Given the description of an element on the screen output the (x, y) to click on. 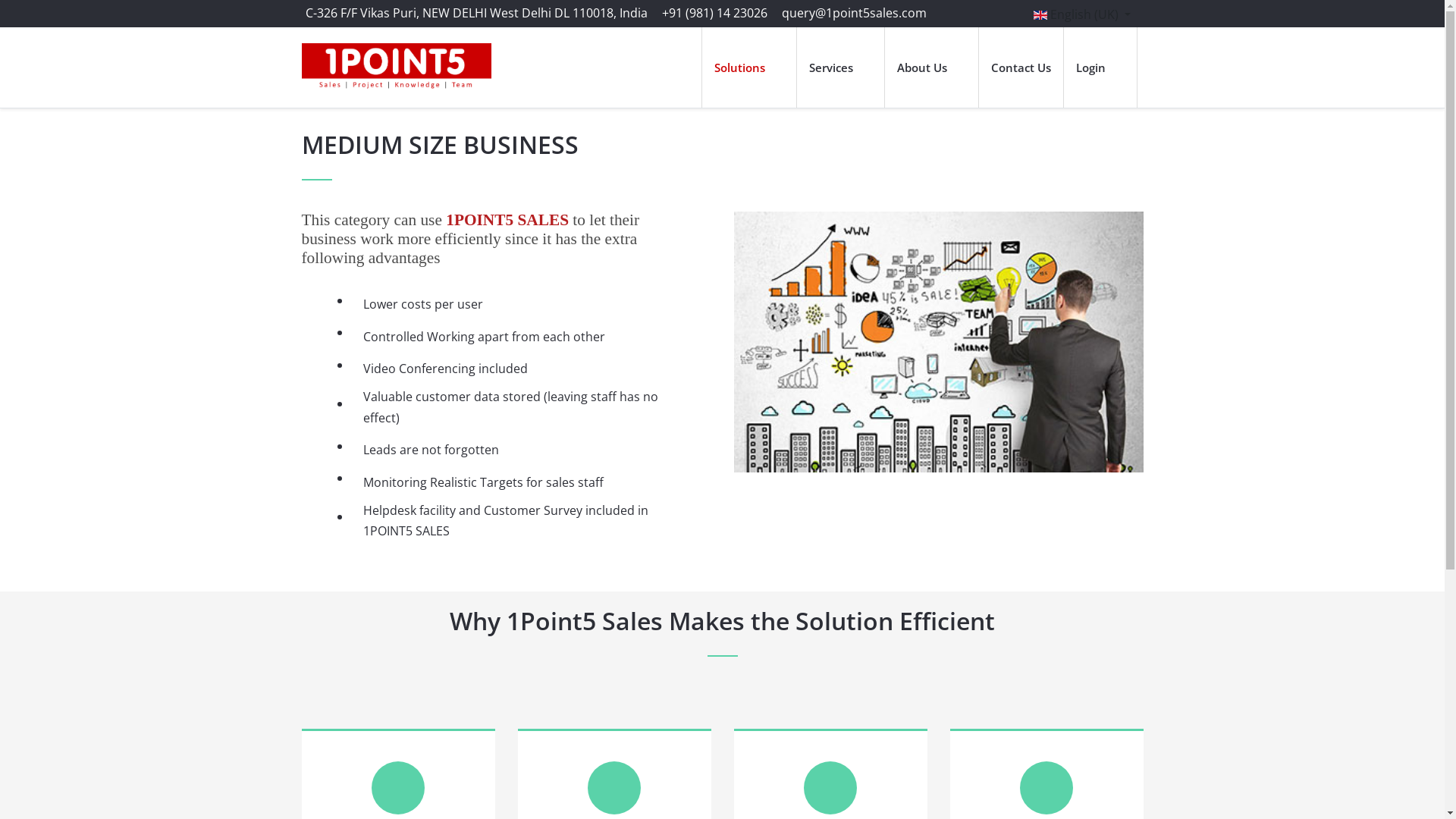
Services Element type: text (839, 67)
Login Element type: text (1099, 67)
Leads are not forgotten Element type: text (517, 449)
home Element type: hover (688, 33)
About Us Element type: text (930, 67)
query@1point5sales.com Element type: text (853, 12)
Video Conferencing included Element type: text (517, 368)
Controlled Working apart from each other Element type: text (517, 336)
  English (UK) Element type: text (1080, 14)
Contact Us Element type: text (1020, 67)
Monitoring Realistic Targets for sales staff Element type: text (517, 482)
+91 (981) 14 23026 Element type: text (713, 12)
Lower costs per user Element type: text (517, 304)
Solutions Element type: text (749, 67)
Valuable customer data stored (leaving staff has no effect) Element type: text (517, 406)
